Given the description of an element on the screen output the (x, y) to click on. 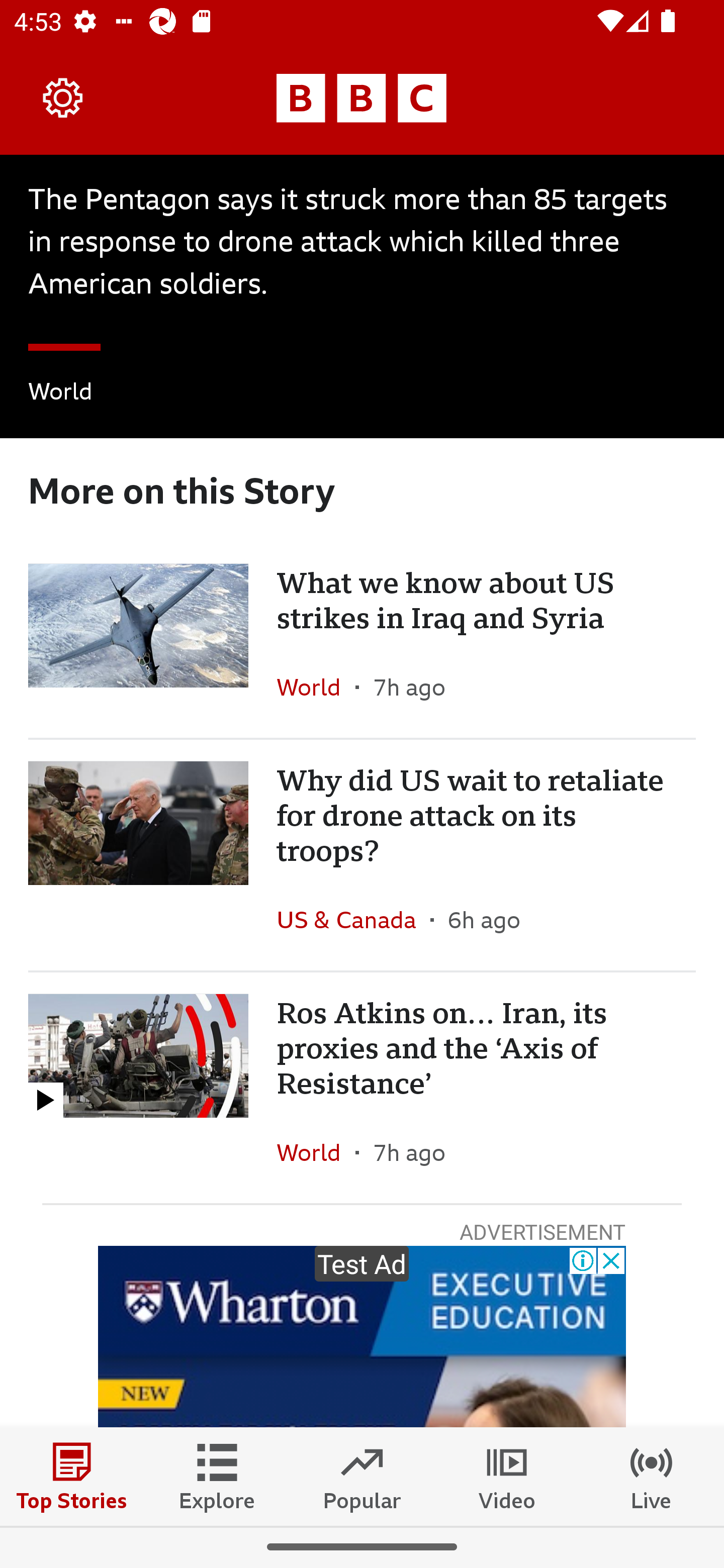
Settings (63, 97)
World In the section World (60, 394)
World In the section World (315, 687)
US & Canada In the section US & Canada (353, 919)
World In the section World (315, 1152)
Advertisement (361, 1336)
Explore (216, 1475)
Popular (361, 1475)
Video (506, 1475)
Live (651, 1475)
